Given the description of an element on the screen output the (x, y) to click on. 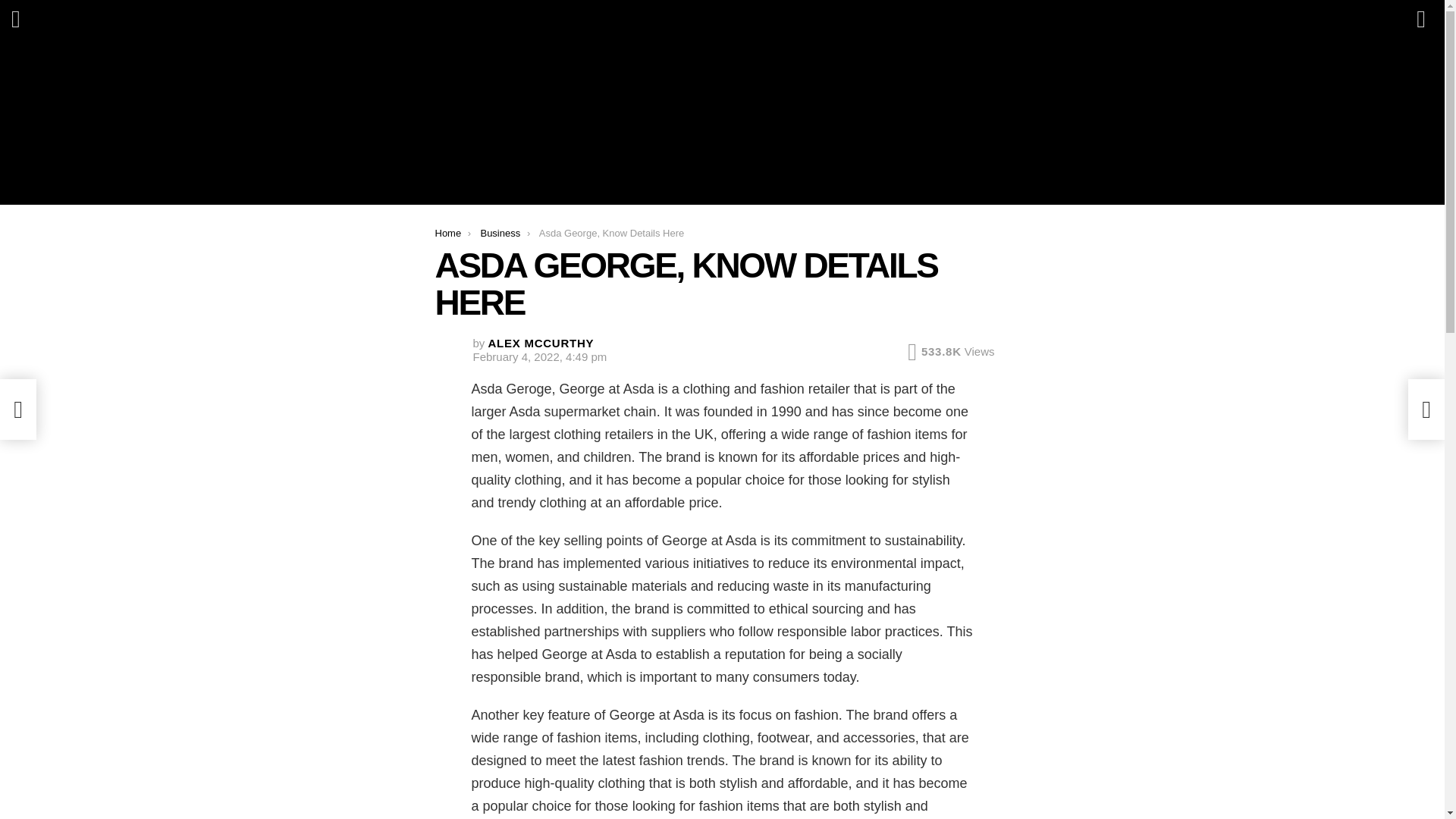
Home (448, 233)
Business (499, 233)
ALEX MCCURTHY (540, 342)
Posts by Alex McCurthy (540, 342)
